Given the description of an element on the screen output the (x, y) to click on. 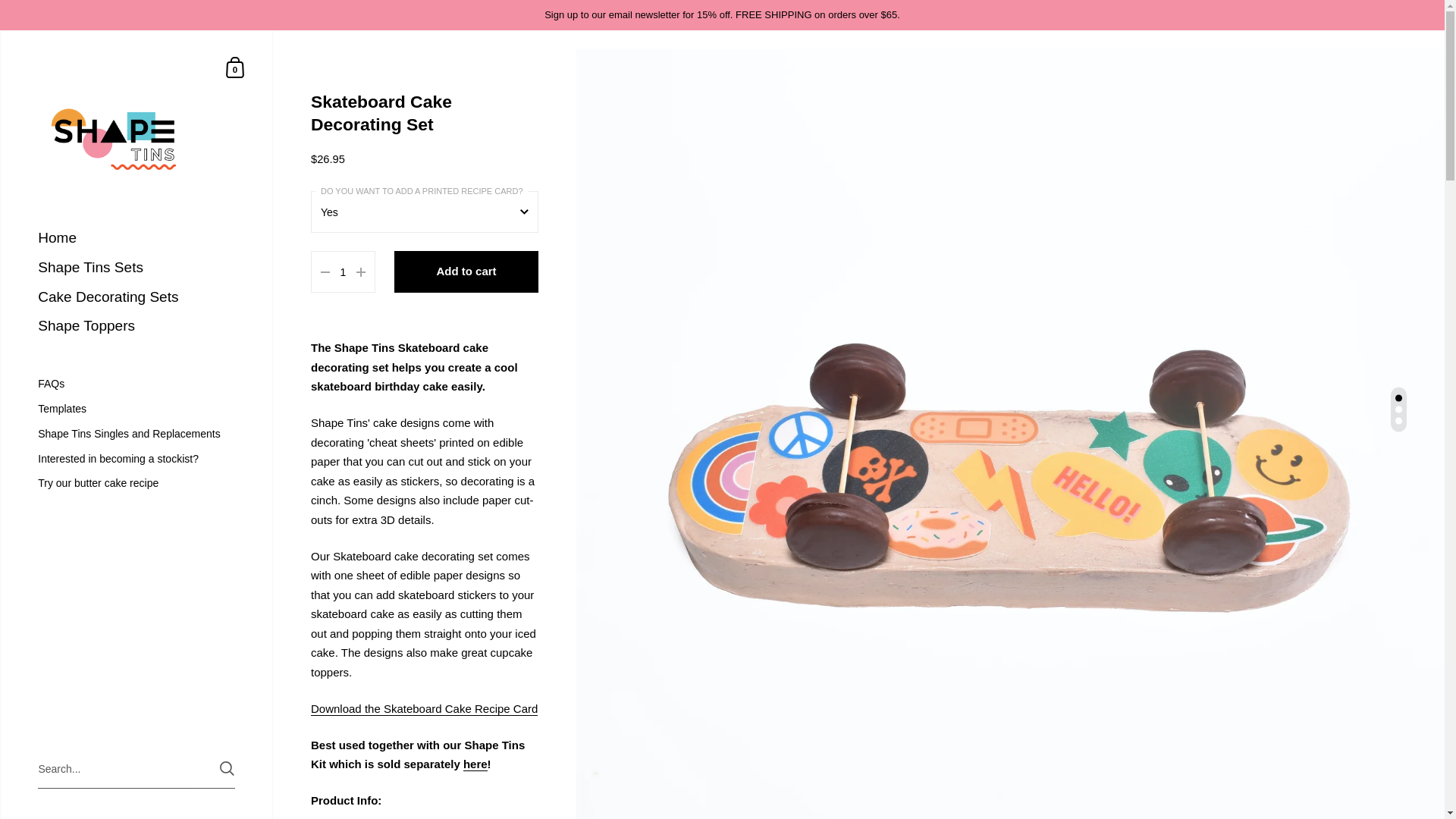
Shopping Cart (235, 66)
Cake Decorating Sets (136, 296)
Shape Tins Kit children's birthday cake book (475, 764)
Interested in becoming a stockist? (136, 458)
Templates (136, 408)
Shape Tins Singles and Replacements (136, 433)
Add to cart (466, 271)
FAQs (136, 383)
Home (136, 238)
1 (342, 272)
